Given the description of an element on the screen output the (x, y) to click on. 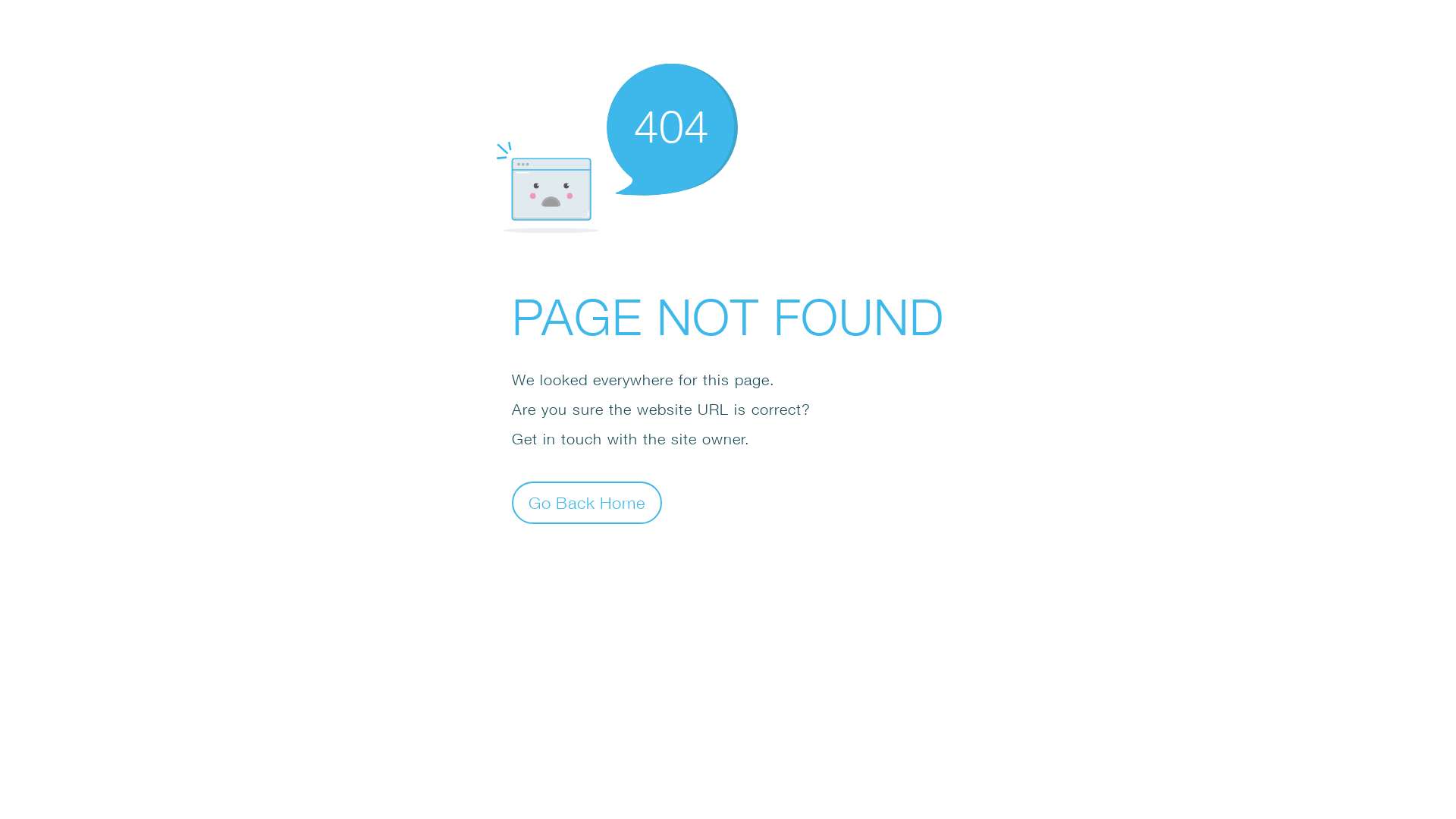
Go Back Home Element type: text (586, 502)
